Given the description of an element on the screen output the (x, y) to click on. 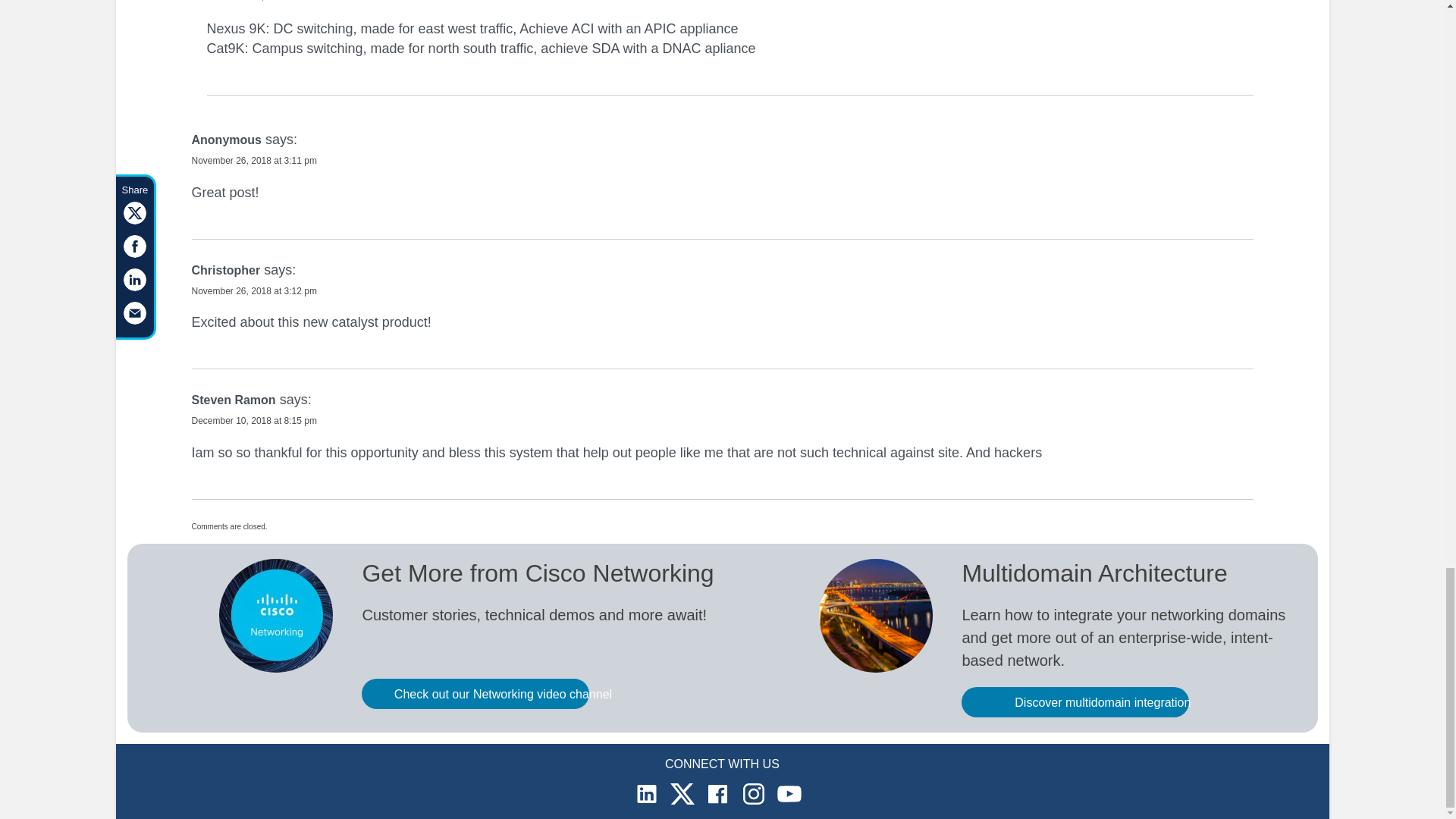
November 26, 2018 at 3:12 pm (252, 290)
November 29, 2018 at 12:23 am (271, 1)
December 10, 2018 at 8:15 pm (252, 420)
November 26, 2018 at 3:11 pm (252, 160)
